Given the description of an element on the screen output the (x, y) to click on. 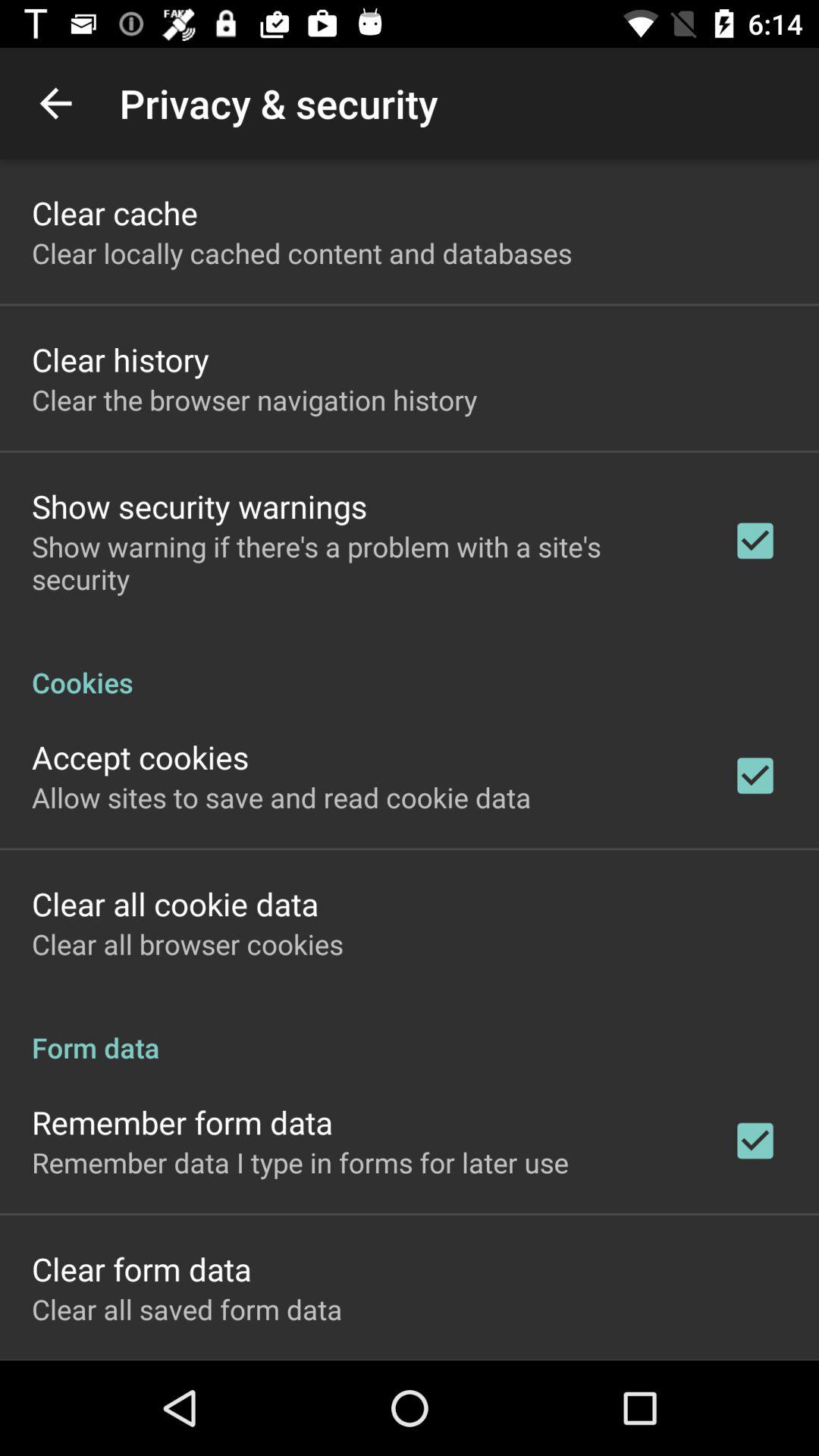
open the item to the left of the privacy & security item (55, 103)
